Given the description of an element on the screen output the (x, y) to click on. 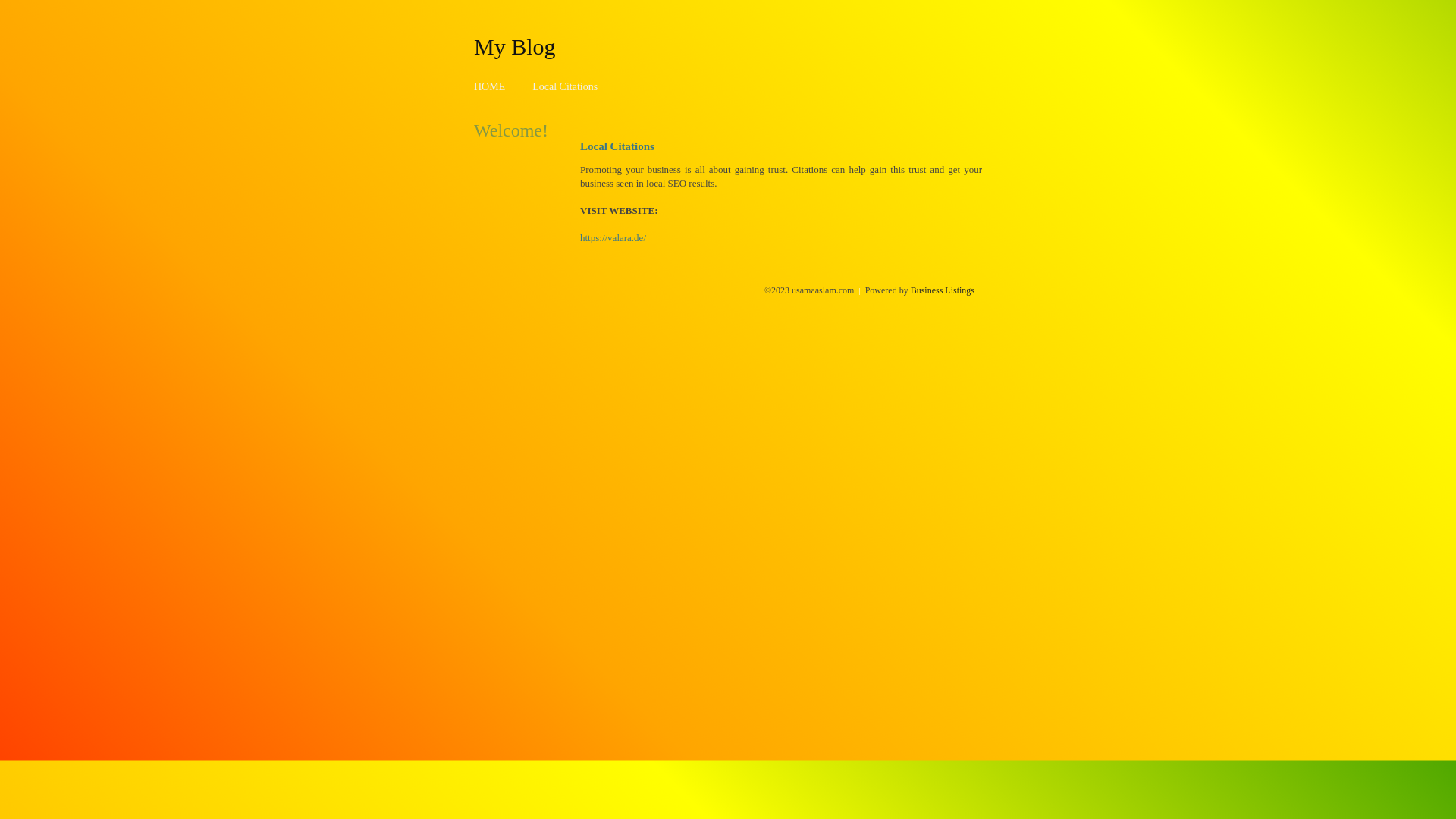
My Blog Element type: text (514, 46)
Local Citations Element type: text (564, 86)
https://valara.de/ Element type: text (613, 237)
HOME Element type: text (489, 86)
Business Listings Element type: text (942, 290)
